Given the description of an element on the screen output the (x, y) to click on. 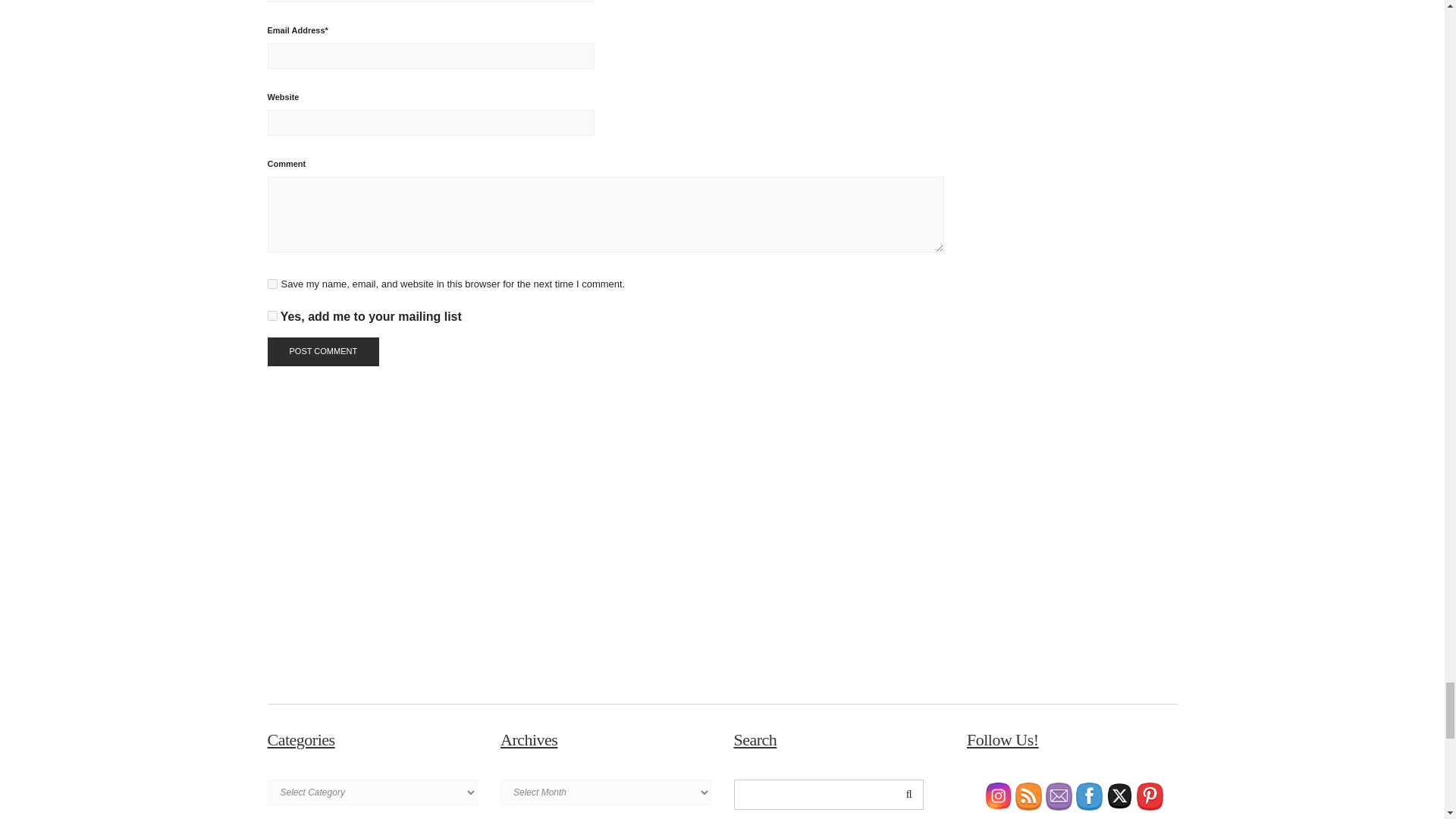
Post Comment (322, 351)
1 (271, 316)
yes (271, 284)
